Given the description of an element on the screen output the (x, y) to click on. 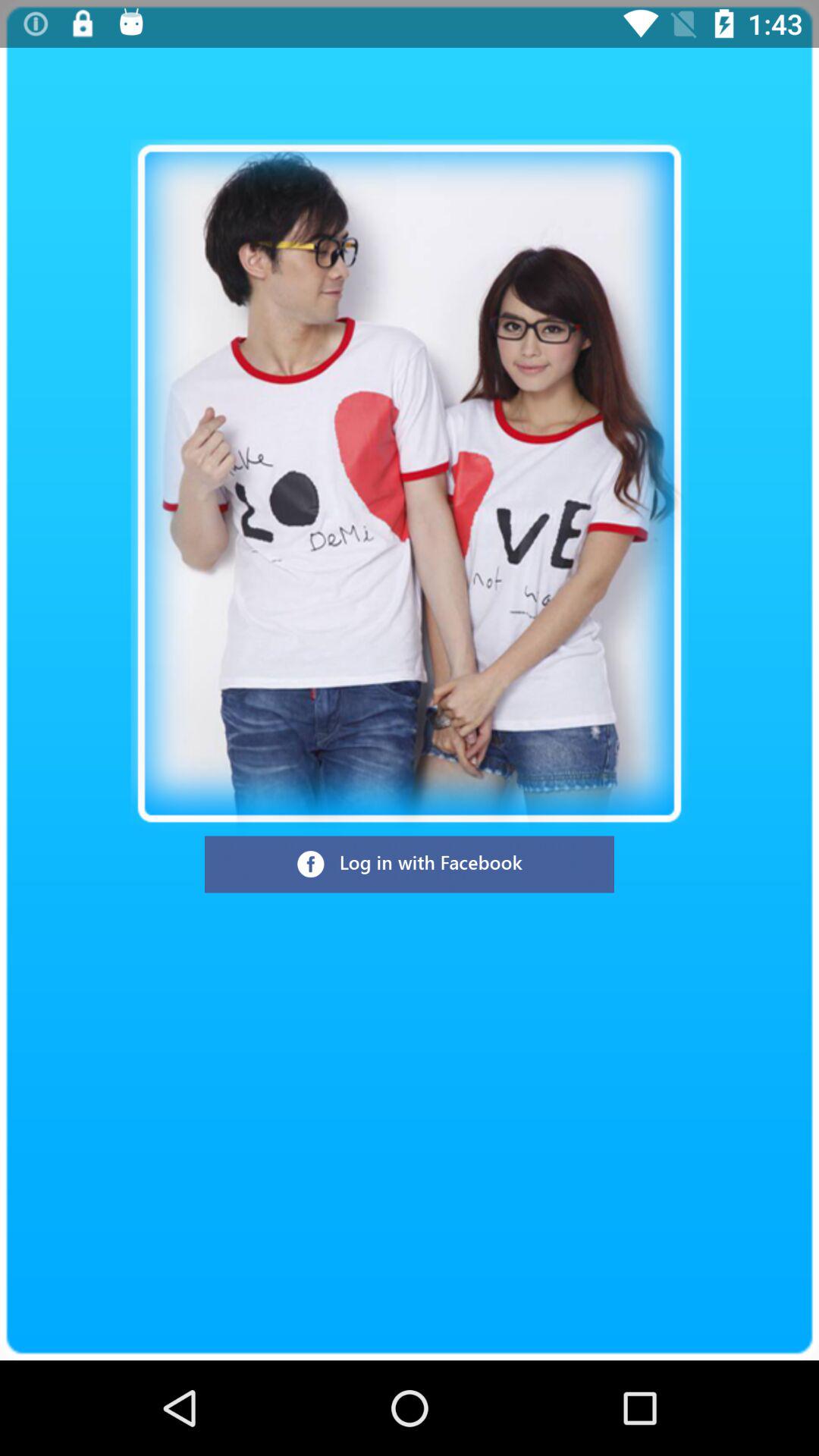
log in with facebook (409, 864)
